Given the description of an element on the screen output the (x, y) to click on. 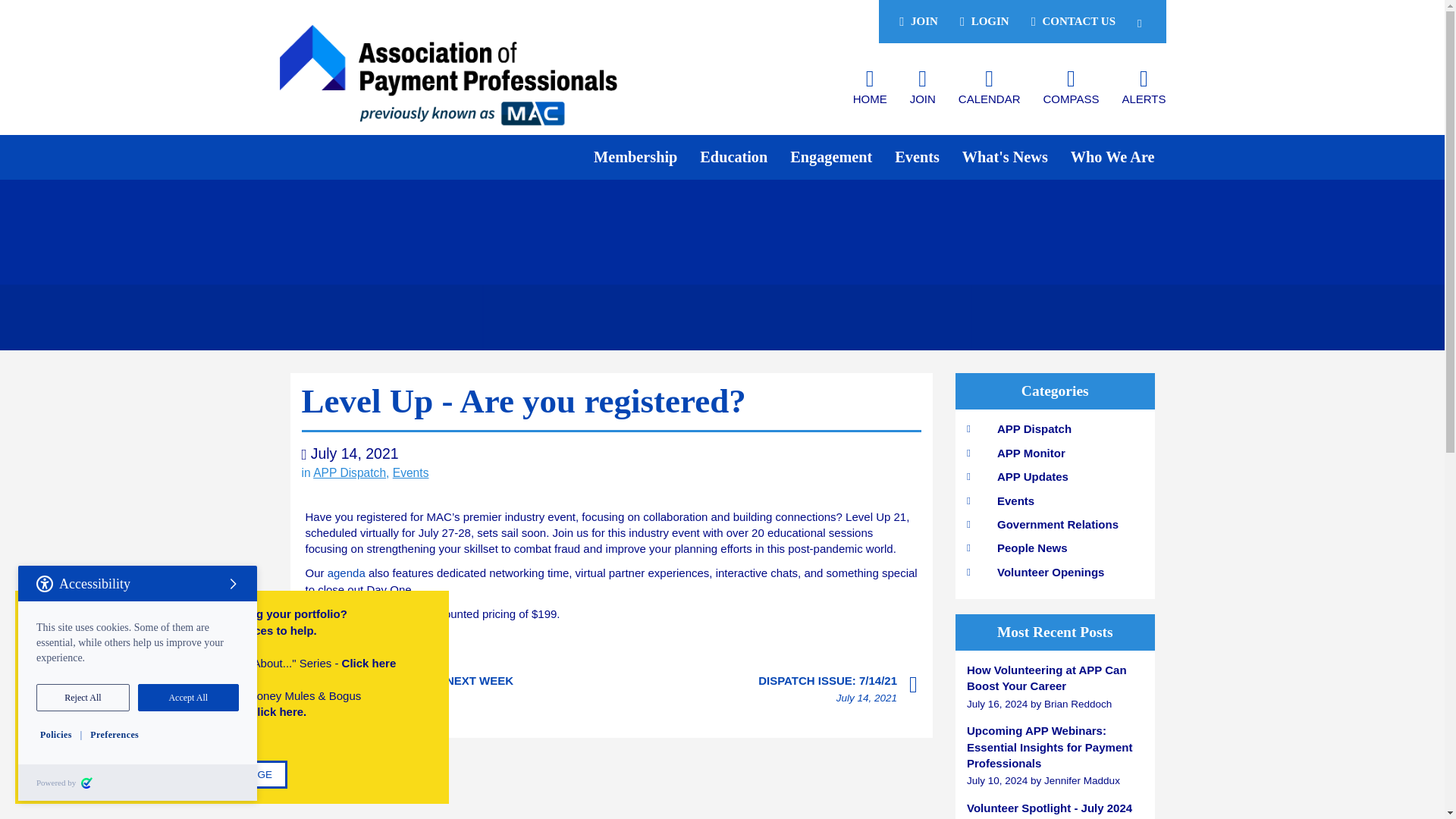
Membership (635, 157)
ACKNOWLEDGE (231, 774)
JOIN (918, 20)
CALENDAR (989, 90)
ALERTS (1143, 90)
Click here (369, 662)
COMPASS (1071, 90)
CONTACT US (1073, 20)
Privacy Widget (137, 683)
Click here. (276, 711)
Engagement (830, 157)
Education (733, 157)
LOGIN (984, 20)
